Given the description of an element on the screen output the (x, y) to click on. 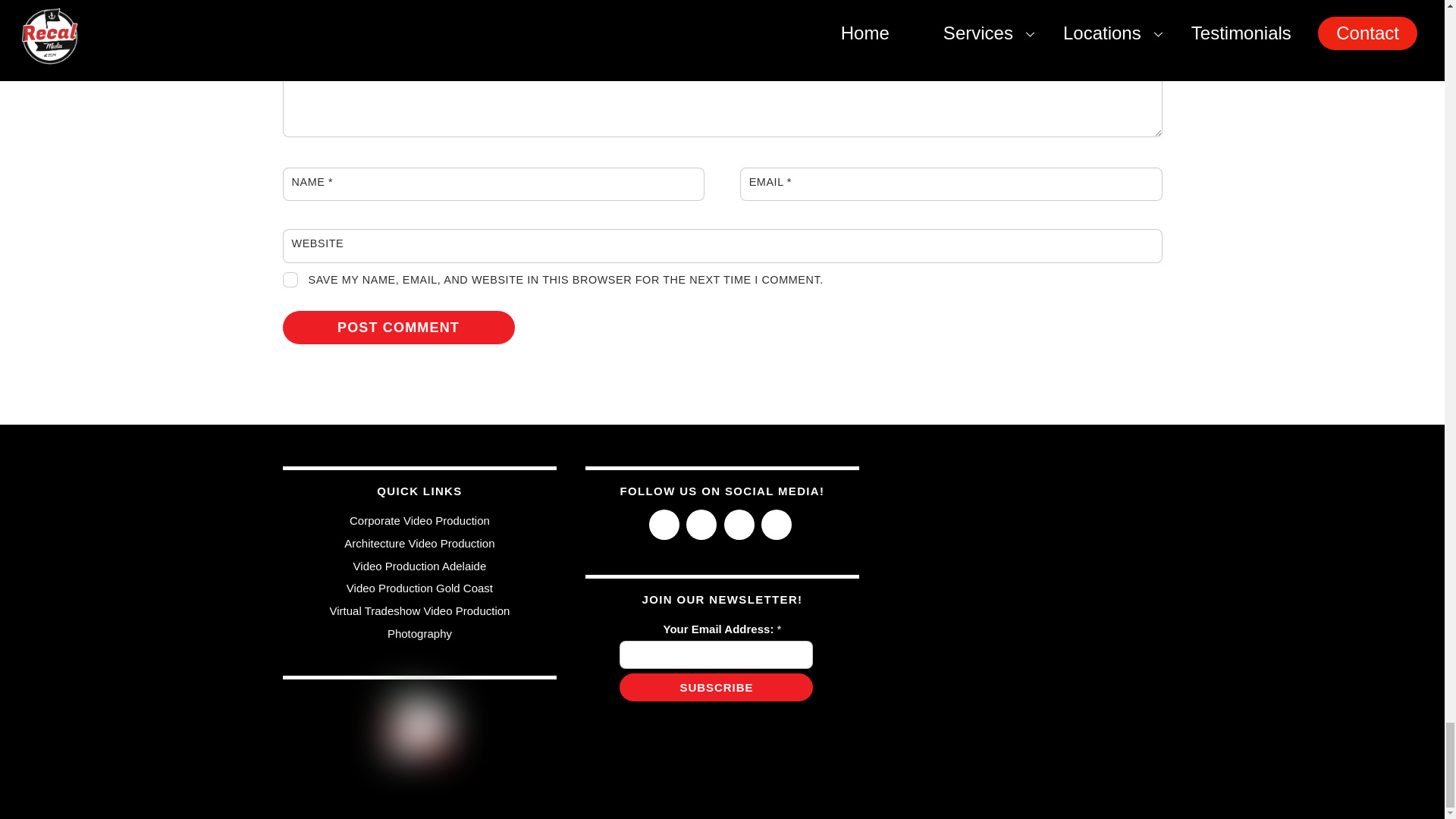
Subscribe (716, 687)
Post Comment (397, 327)
Corporate Video Production (419, 520)
Video Production Gold Coast (419, 587)
Post Comment (397, 327)
Virtual Tradeshow Video Production (419, 610)
Architecture Video Production (419, 543)
yes (289, 279)
Video Production Adelaide (419, 565)
